Given the description of an element on the screen output the (x, y) to click on. 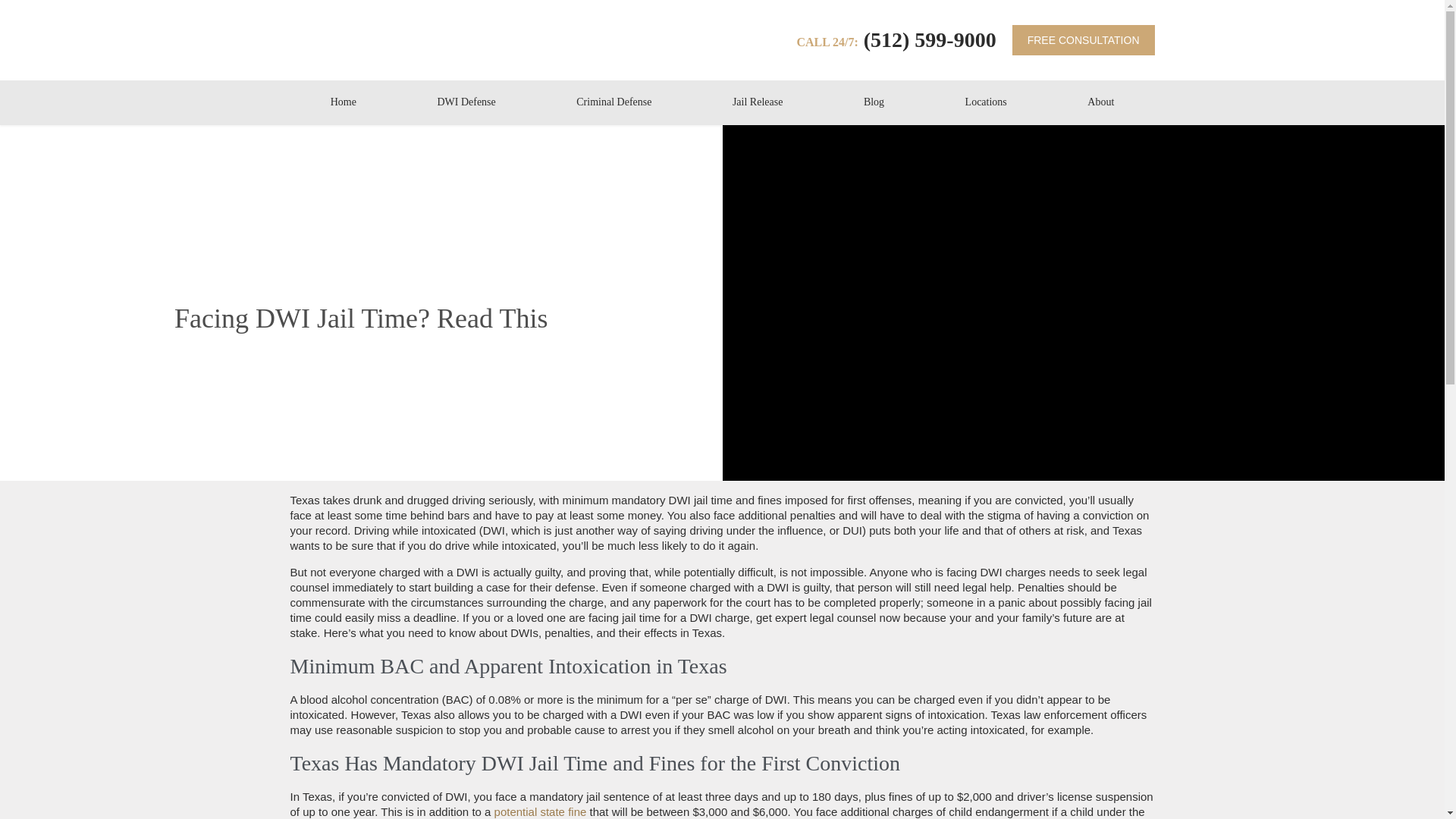
DWI Defense (465, 102)
FREE CONSULTATION (1082, 40)
Home (342, 102)
